Given the description of an element on the screen output the (x, y) to click on. 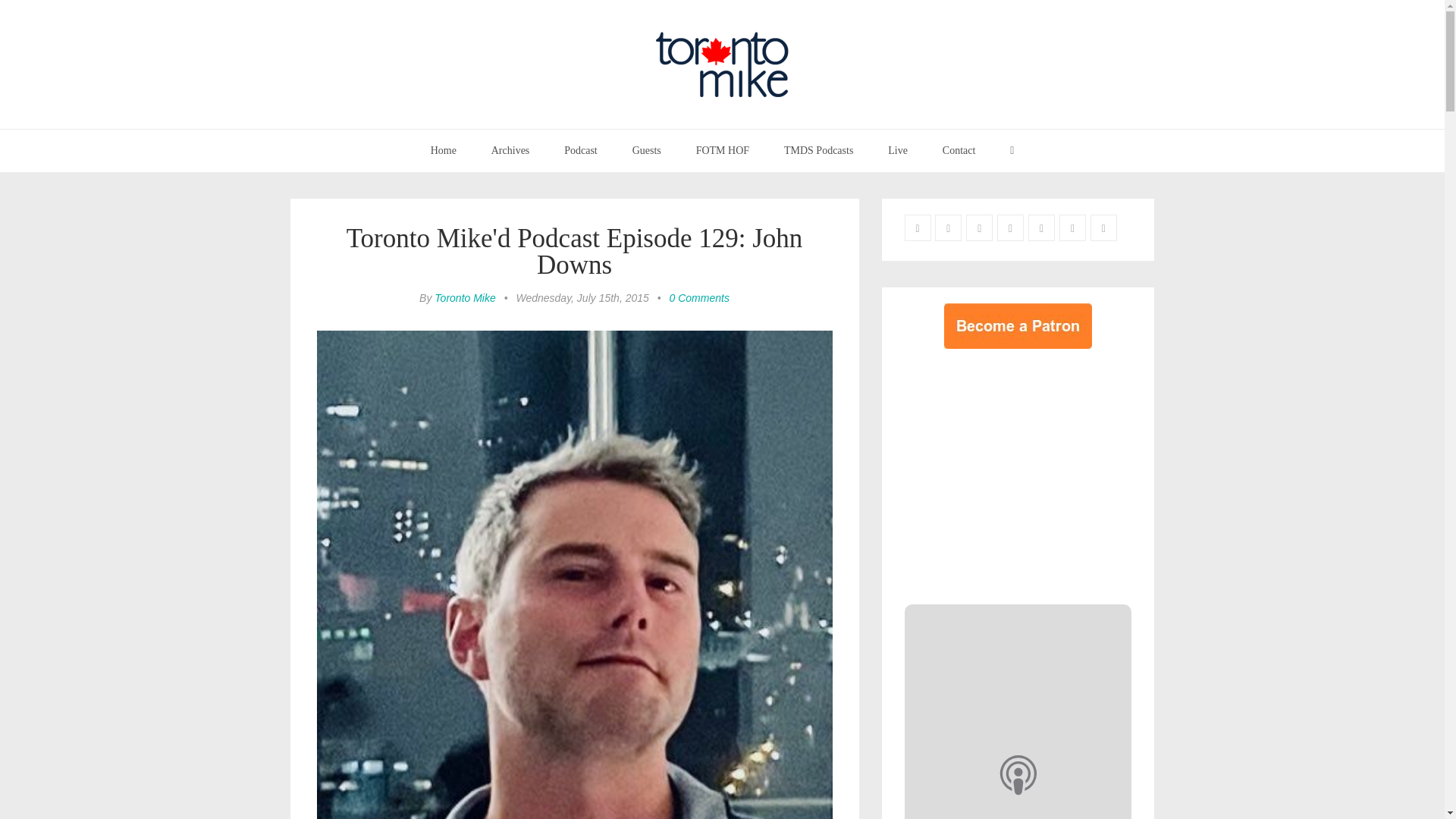
TMDS Podcasts (818, 150)
0 Comments (699, 297)
FOTM HOF (722, 150)
Advertisement (1031, 472)
Contact (958, 150)
Archives (511, 150)
Toronto Mike (464, 297)
Live (897, 150)
Guests (646, 150)
Podcast (580, 150)
Home (442, 150)
